Given the description of an element on the screen output the (x, y) to click on. 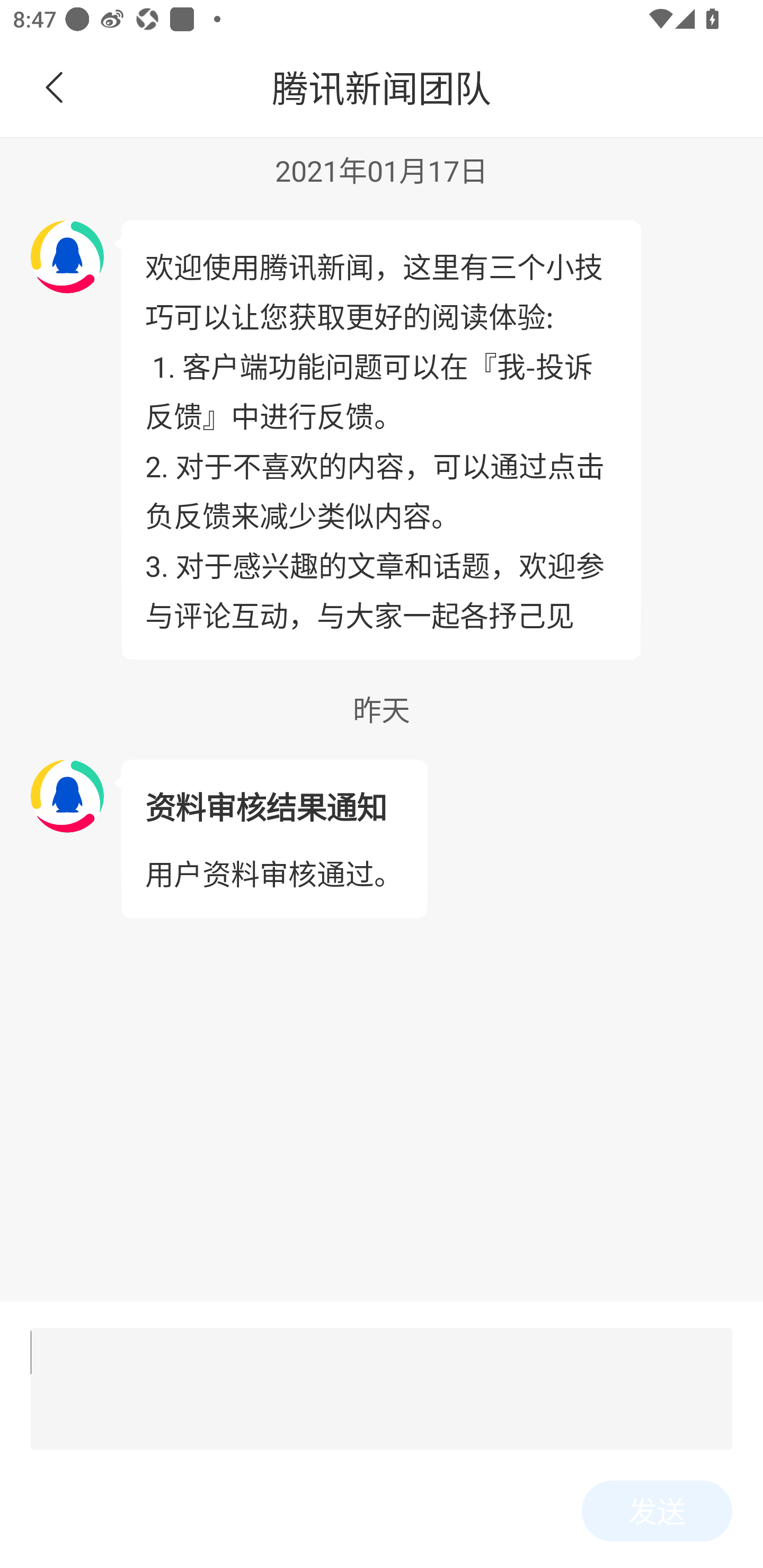
 返回 (54, 87)
资料审核结果通知
用户资料审核通过。 (273, 838)
发送 (656, 1510)
